Given the description of an element on the screen output the (x, y) to click on. 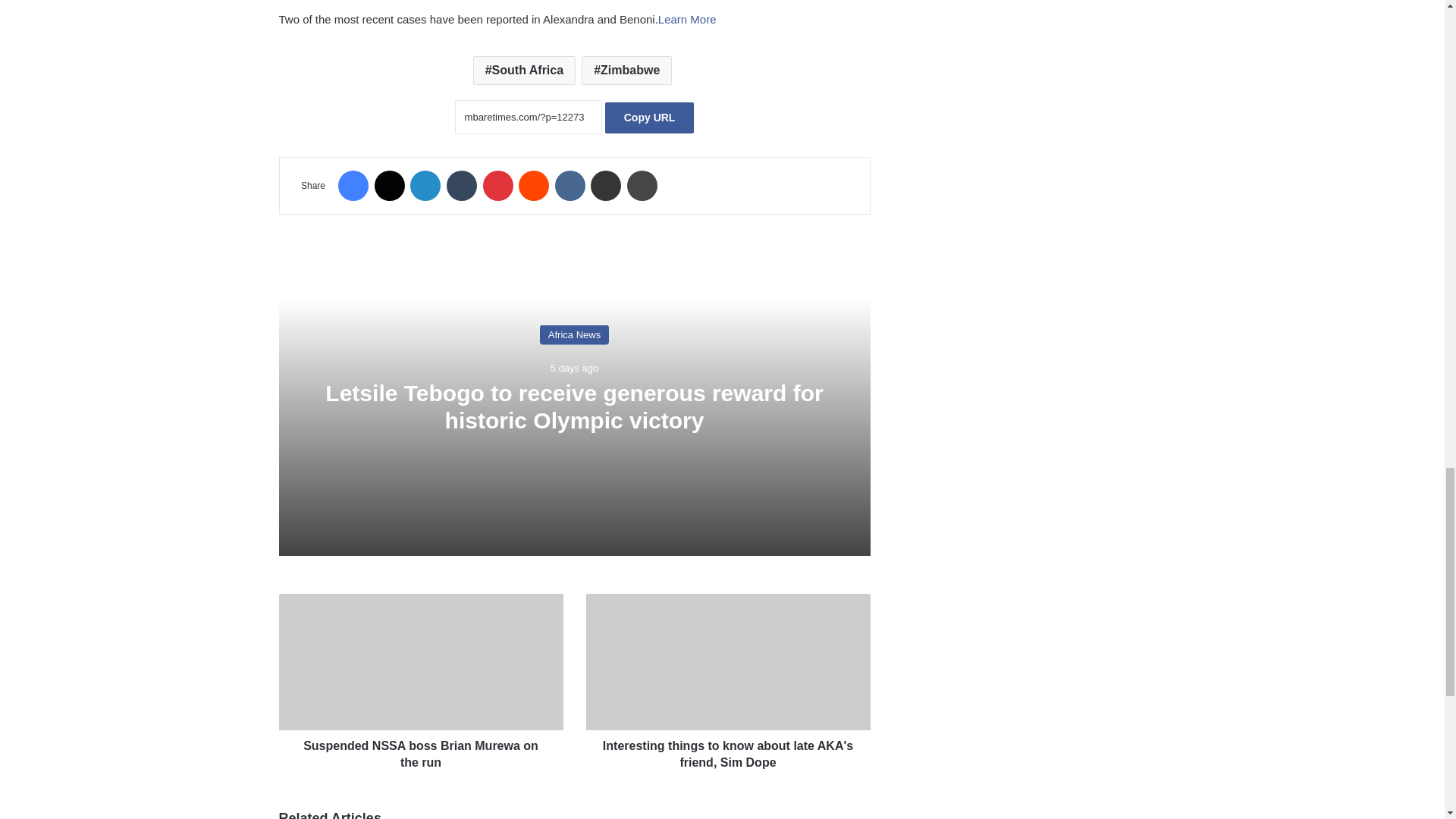
X (389, 185)
LinkedIn (425, 185)
Pinterest (496, 185)
Tumblr (461, 185)
Tumblr (461, 185)
Copy URL (649, 117)
Facebook (352, 185)
VKontakte (569, 185)
Learn More (687, 19)
Facebook (352, 185)
